Given the description of an element on the screen output the (x, y) to click on. 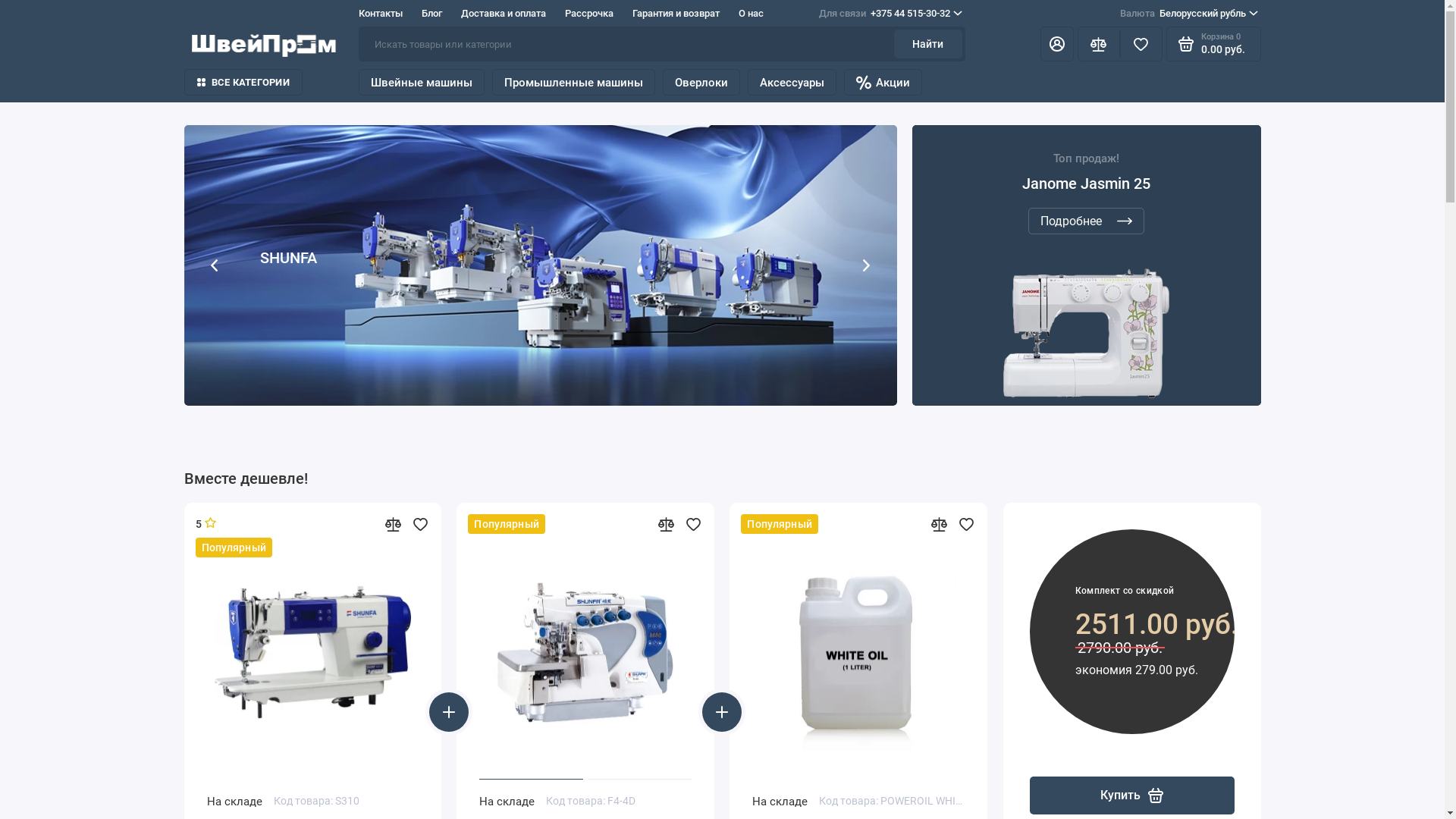
SHUNFA Element type: text (539, 265)
